Given the description of an element on the screen output the (x, y) to click on. 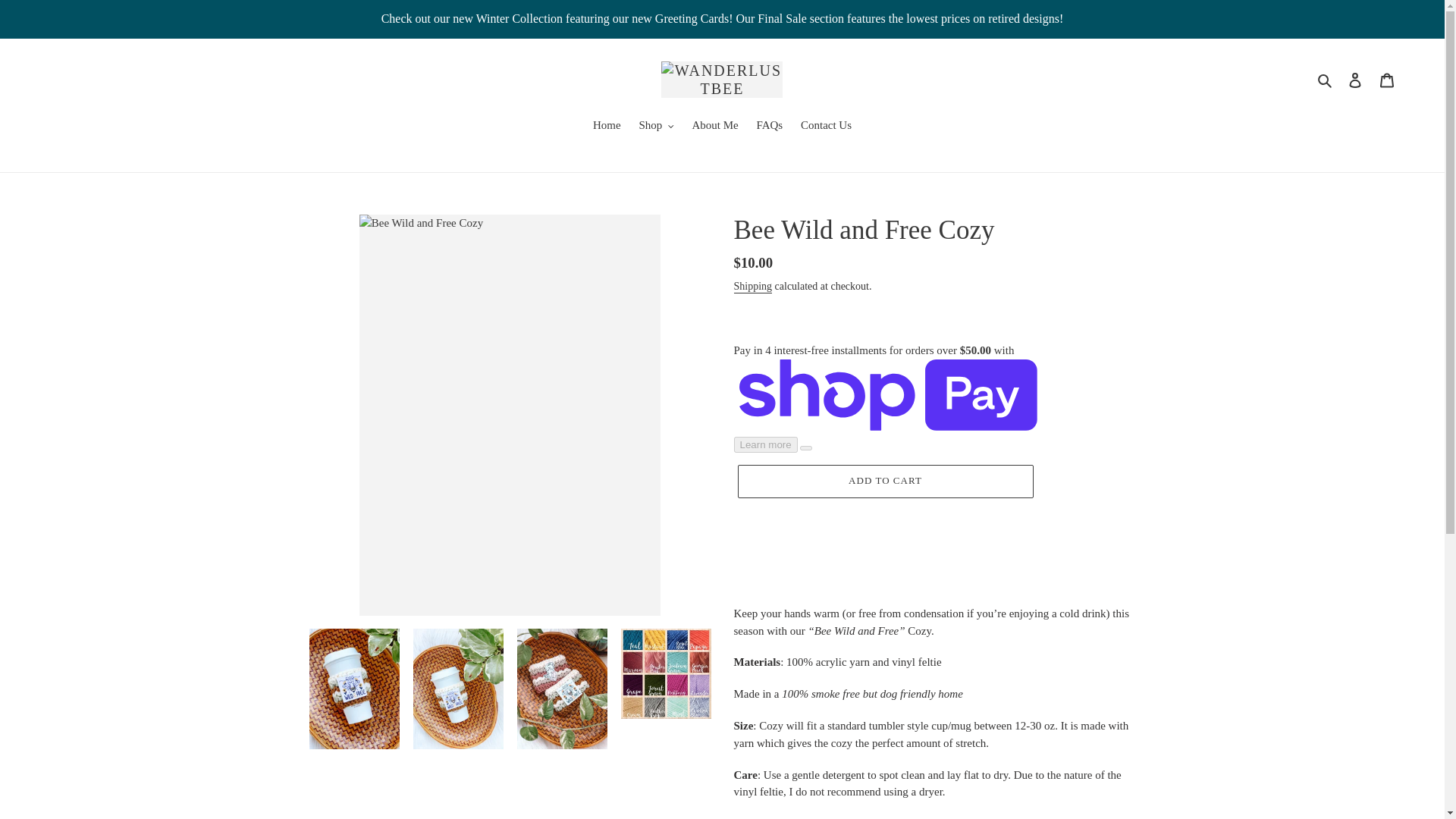
Home (606, 126)
About Me (714, 126)
Log in (1355, 79)
Contact Us (826, 126)
FAQs (769, 126)
Cart (1387, 79)
Shop (655, 126)
Search (1326, 79)
